Given the description of an element on the screen output the (x, y) to click on. 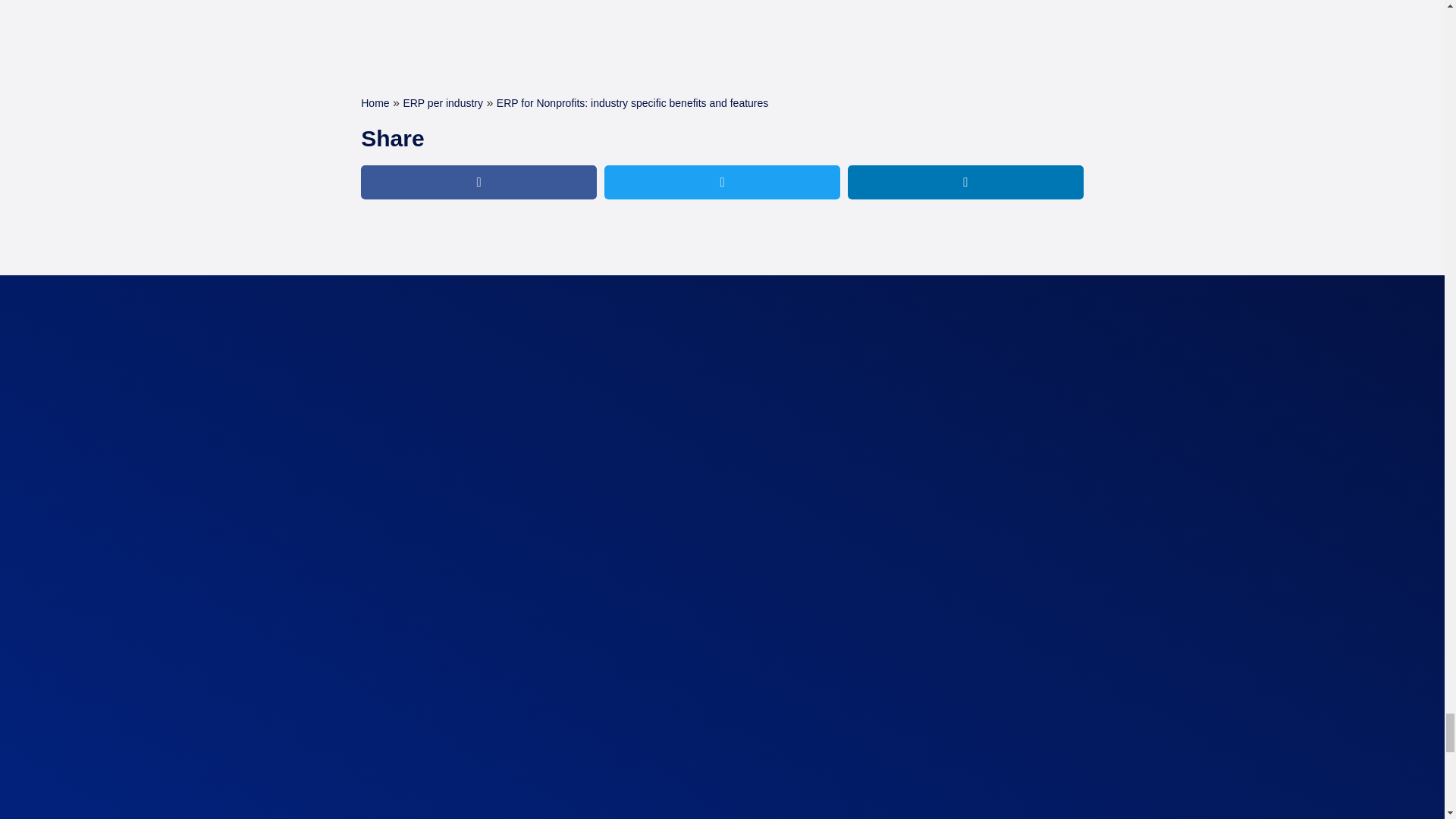
ERP for Nonprofits: industry specific benefits and features (632, 102)
Home (374, 102)
ERP per industry (443, 102)
